Given the description of an element on the screen output the (x, y) to click on. 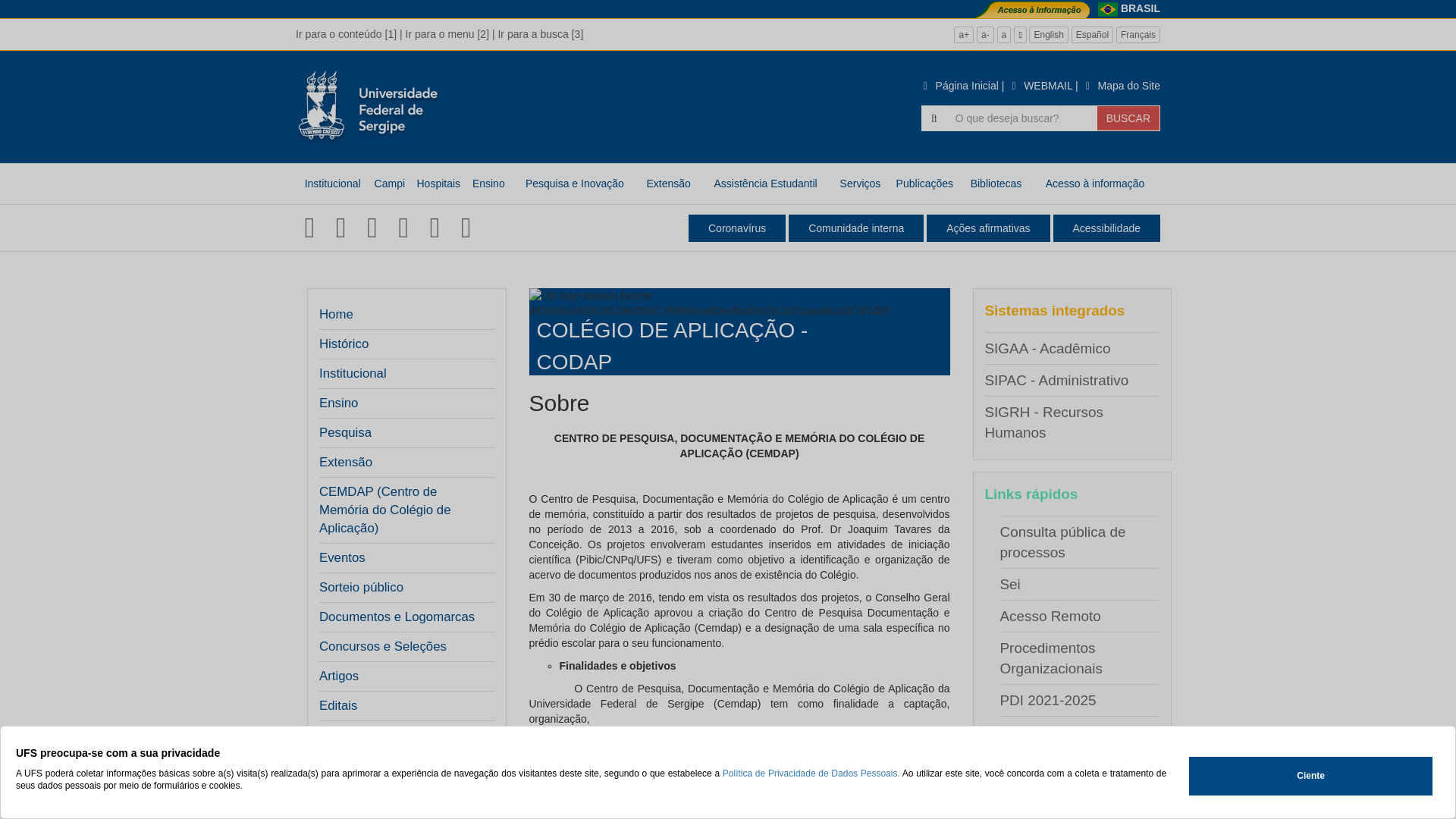
Youtube Element type: text (434, 227)
Acessibilidade Element type: text (1106, 227)
a+ Element type: text (963, 34)
Telefones Element type: text (1029, 795)
Procedimentos Organizacionais Element type: text (1050, 658)
Flickr Element type: text (371, 227)
Eventos Element type: text (402, 557)
Pesquisa Element type: text (402, 432)
Facebook Element type: text (309, 227)
SIPAC - Administrativo Element type: text (1056, 380)
Instagram Element type: text (465, 227)
Ir para o menu [2] Element type: text (447, 34)
PDI 2021-2025 Element type: text (1047, 700)
Artigos Element type: text (338, 676)
English Element type: text (1048, 34)
Institucional Element type: text (402, 373)
Campi Element type: text (389, 183)
BUSCAR Element type: text (1128, 118)
Comunidade interna Element type: text (855, 227)
Mapa do Site Element type: text (1120, 85)
Institucional Element type: text (332, 183)
Resultados Element type: text (350, 764)
SIGRH - Recursos Humanos Element type: text (1043, 422)
Ensino Element type: text (488, 183)
WEBMAIL Element type: text (1039, 85)
a Element type: text (1004, 34)
Ensino Element type: text (402, 403)
Home Element type: text (336, 314)
BRASIL Element type: text (1140, 8)
RSS Element type: text (403, 227)
Ir para a busca [3] Element type: text (540, 34)
a- Element type: text (985, 34)
Hospitais Element type: text (438, 183)
Twitter Element type: text (340, 227)
Acesso Remoto Element type: text (1049, 616)
Documentos e Logomarcas Element type: text (402, 616)
Agenda do Vice-Reitor Element type: text (1071, 763)
Bibliotecas Element type: text (995, 183)
Sei Element type: text (1009, 584)
Editais Element type: text (338, 705)
Agenda do Reitor Element type: text (1054, 732)
